Given the description of an element on the screen output the (x, y) to click on. 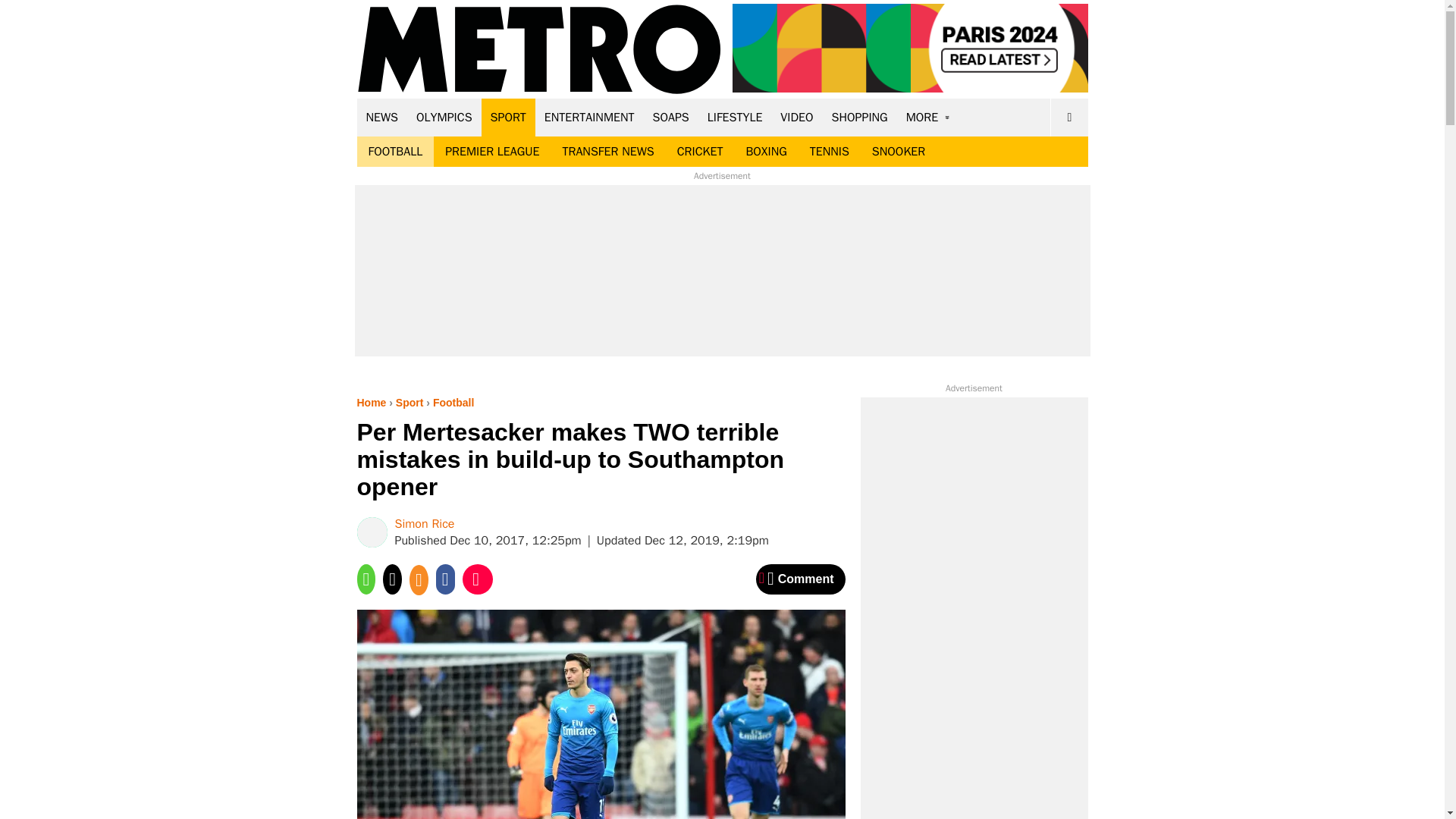
SNOOKER (898, 151)
NEWS (381, 117)
ENTERTAINMENT (589, 117)
CRICKET (700, 151)
Metro (539, 50)
TENNIS (828, 151)
SPORT (508, 117)
FOOTBALL (394, 151)
PREMIER LEAGUE (491, 151)
LIFESTYLE (734, 117)
